Given the description of an element on the screen output the (x, y) to click on. 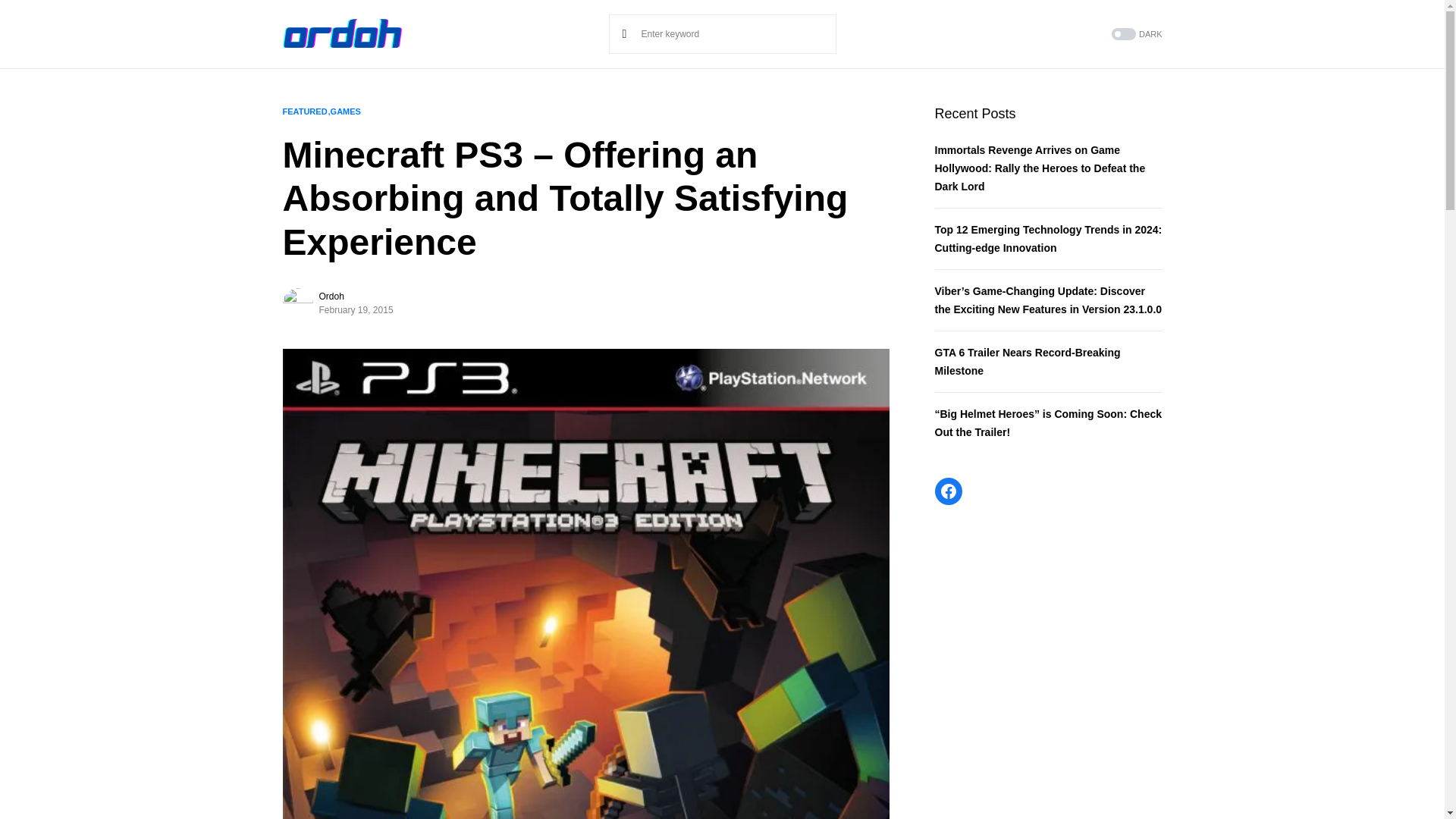
FEATURED (304, 111)
GAMES (345, 111)
Ordoh (330, 296)
